Given the description of an element on the screen output the (x, y) to click on. 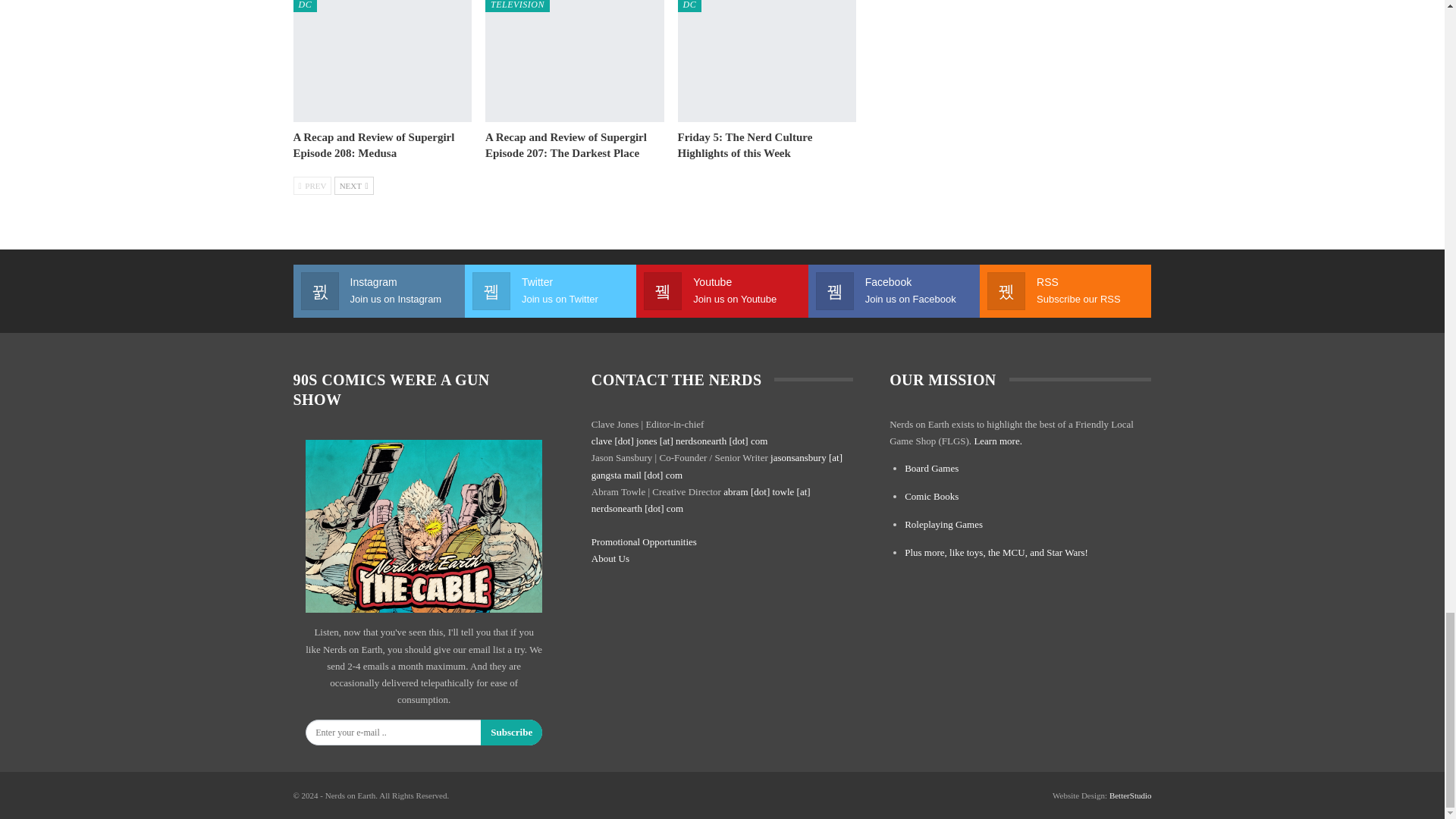
A Recap and Review of Supergirl Episode 208: Medusa (381, 61)
Next (354, 185)
Friday 5: The Nerd Culture Highlights of this Week (767, 61)
Previous (311, 185)
A Recap and Review of Supergirl Episode 208: Medusa (373, 144)
Friday 5: The Nerd Culture Highlights of this Week (745, 144)
